Given the description of an element on the screen output the (x, y) to click on. 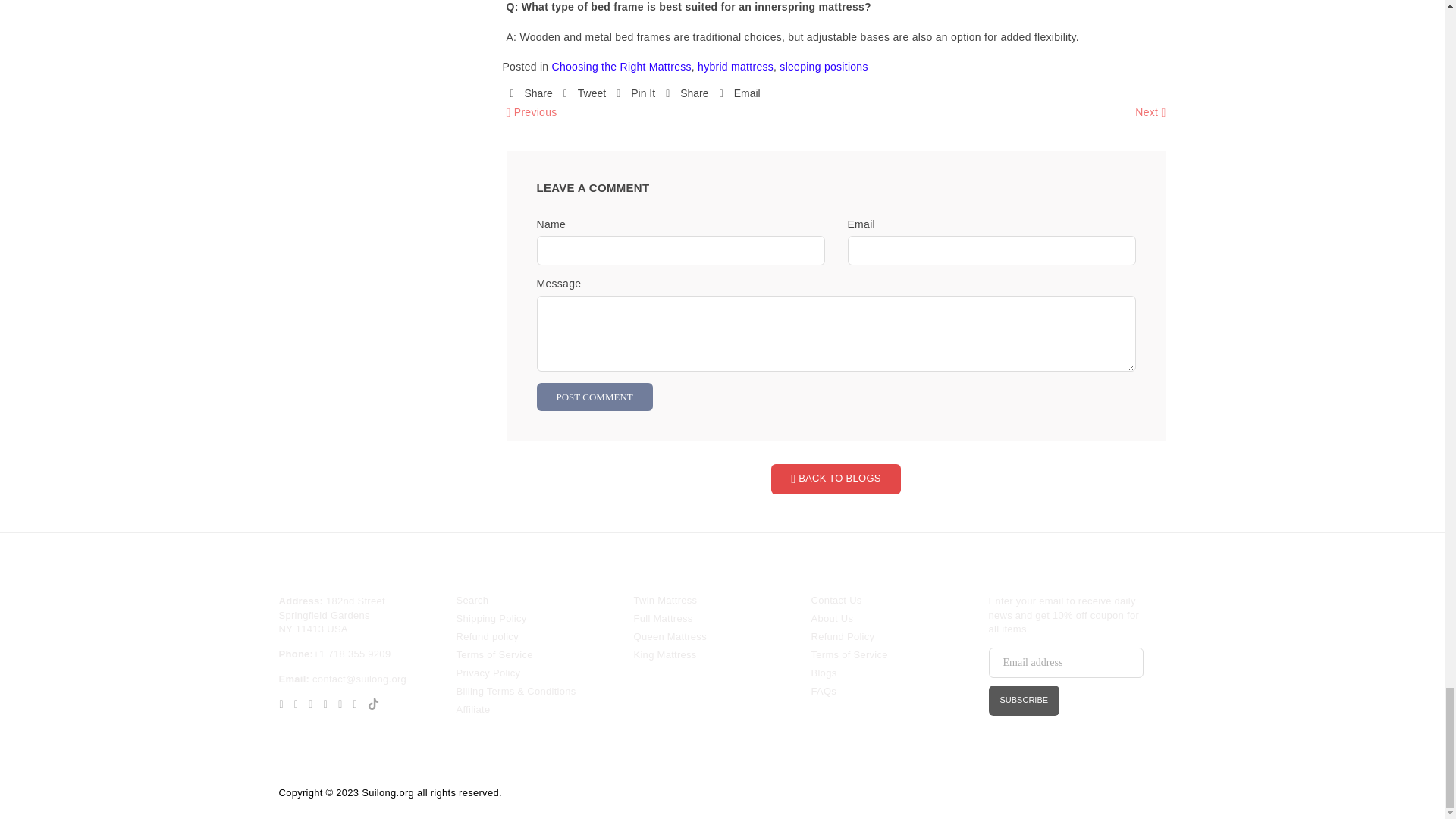
Share on Facebook (530, 93)
Tweet on Twitter (584, 93)
Post comment (594, 397)
Share by Email (739, 93)
Share on Linked In (686, 93)
Pin on Pinterest (635, 93)
